Given the description of an element on the screen output the (x, y) to click on. 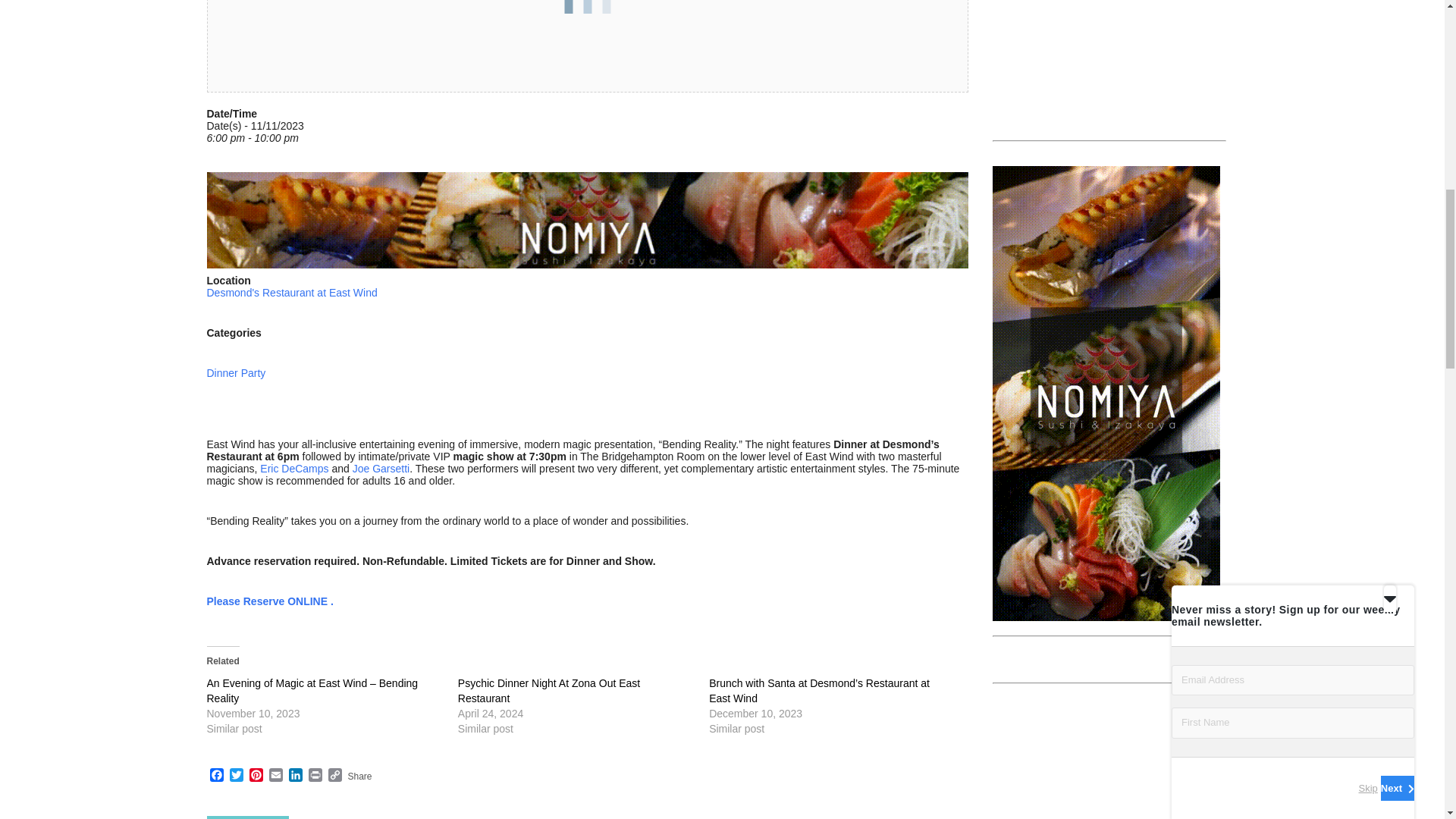
Facebook (215, 776)
View all posts in Dinner Party (247, 817)
Pinterest (255, 776)
Email (274, 776)
Eric DeCamps (294, 468)
Copy Link (333, 776)
Facebook (215, 776)
Pinterest (255, 776)
Copy Link (333, 776)
LinkedIn (294, 776)
Print (314, 776)
Joe Garsetti (380, 468)
Please Reserve ONLINE . (269, 601)
Twitter (235, 776)
Email (274, 776)
